Given the description of an element on the screen output the (x, y) to click on. 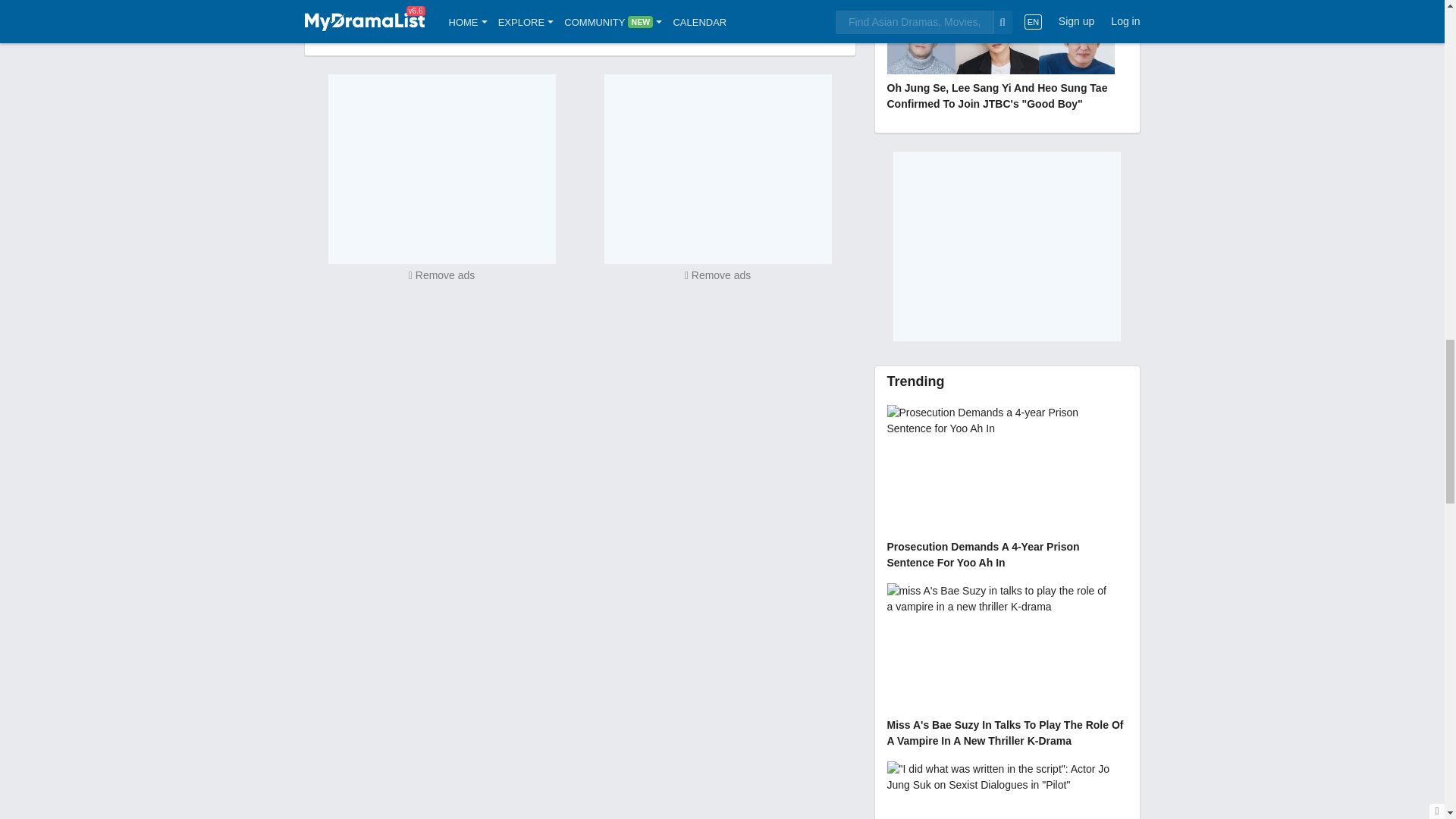
Prosecution Demands a 4-year Prison Sentence for Yoo Ah In (1007, 488)
